Given the description of an element on the screen output the (x, y) to click on. 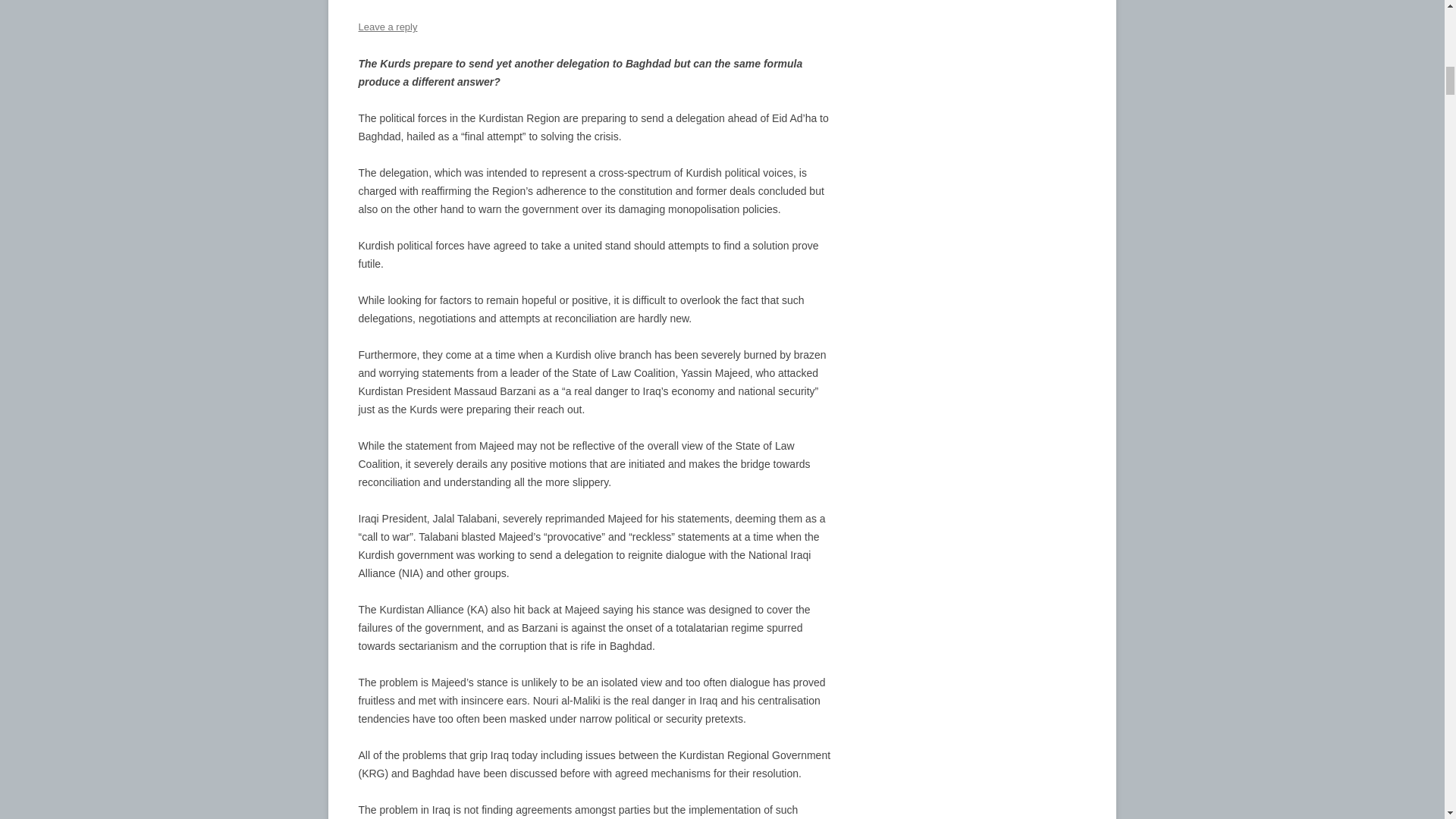
Leave a reply (387, 26)
